Given the description of an element on the screen output the (x, y) to click on. 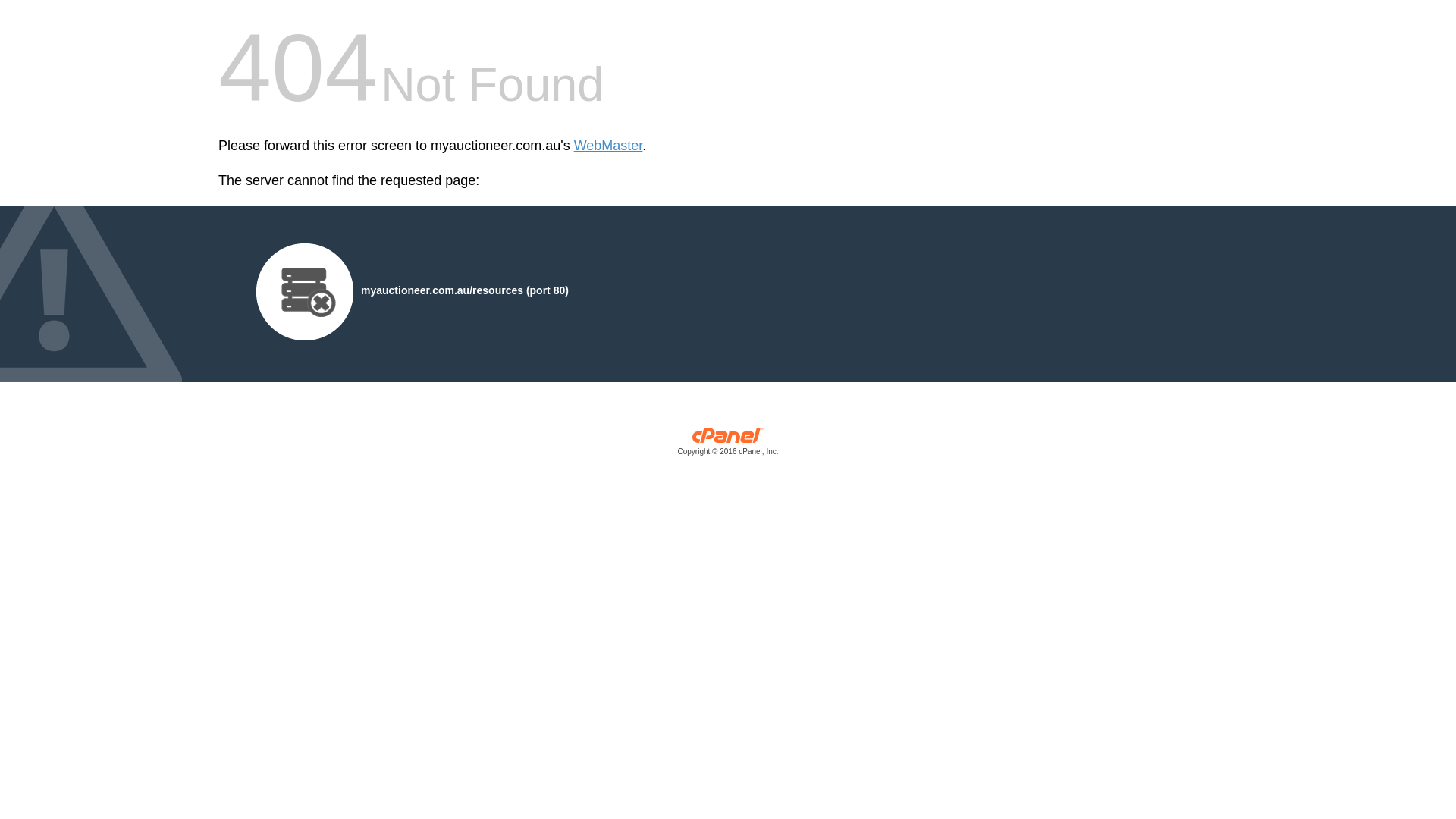
WebMaster Element type: text (608, 145)
